Given the description of an element on the screen output the (x, y) to click on. 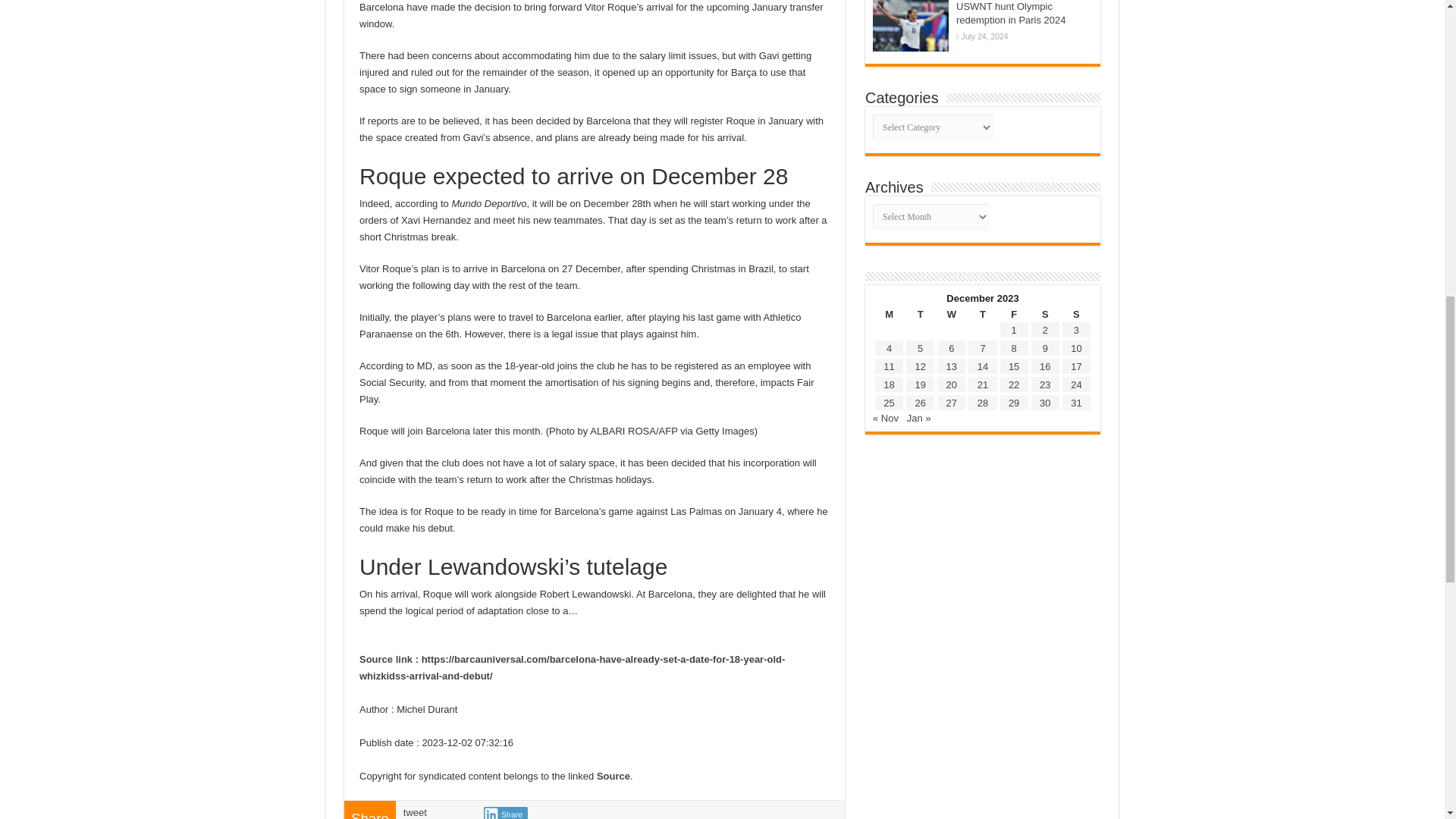
tweet (414, 812)
Share (505, 812)
Wednesday (951, 314)
Monday (889, 314)
Pin It (594, 812)
Source (613, 776)
Tuesday (919, 314)
